Given the description of an element on the screen output the (x, y) to click on. 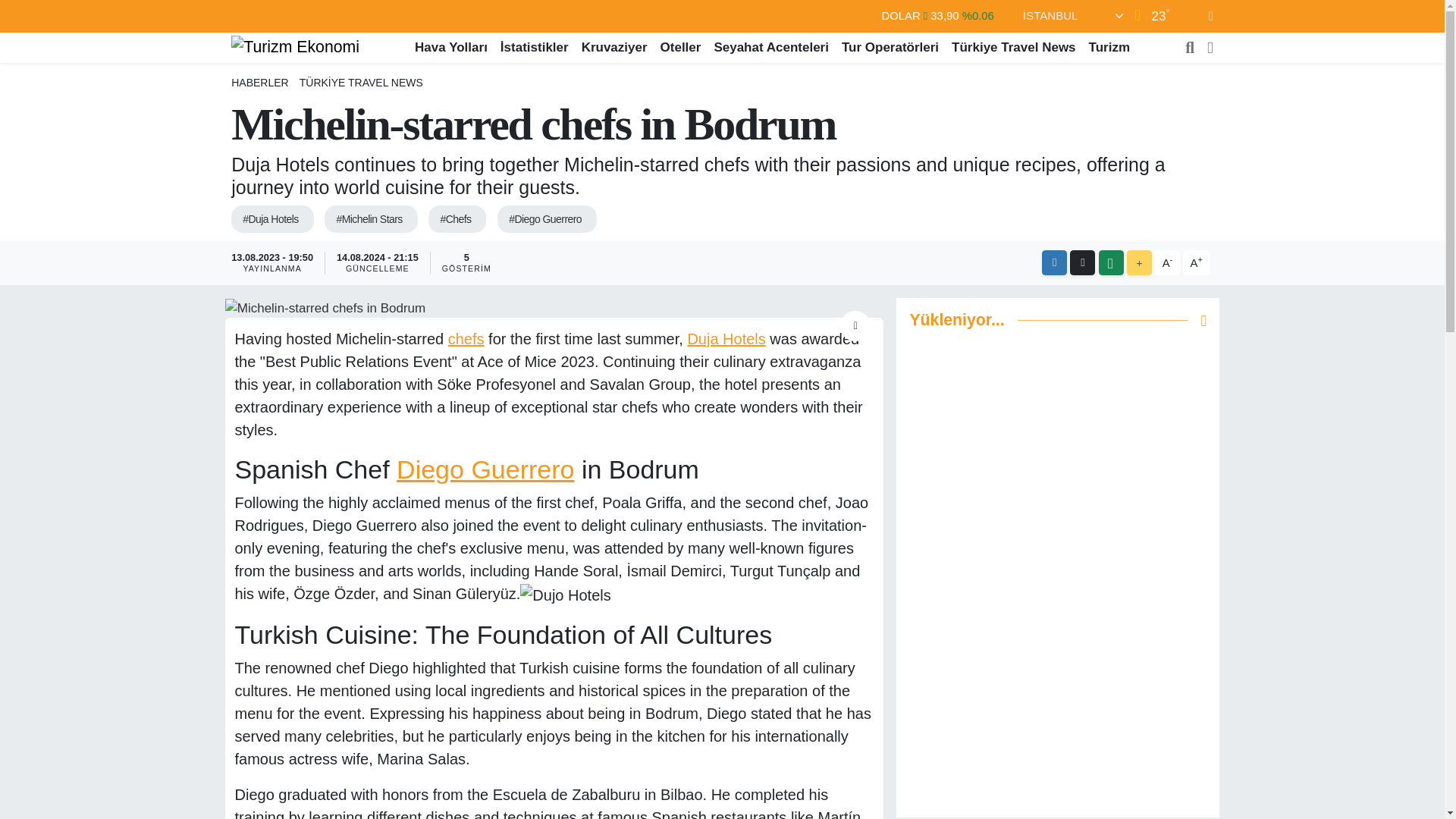
Seyahat Acenteleri (771, 47)
Seyahat Acenteleri (771, 47)
Kruvaziyer (614, 47)
Turizm (1108, 47)
Turizm (1108, 47)
Turizm Ekonomi (295, 46)
Oteller (680, 47)
Oteller (680, 47)
Kruvaziyer (614, 47)
